Given the description of an element on the screen output the (x, y) to click on. 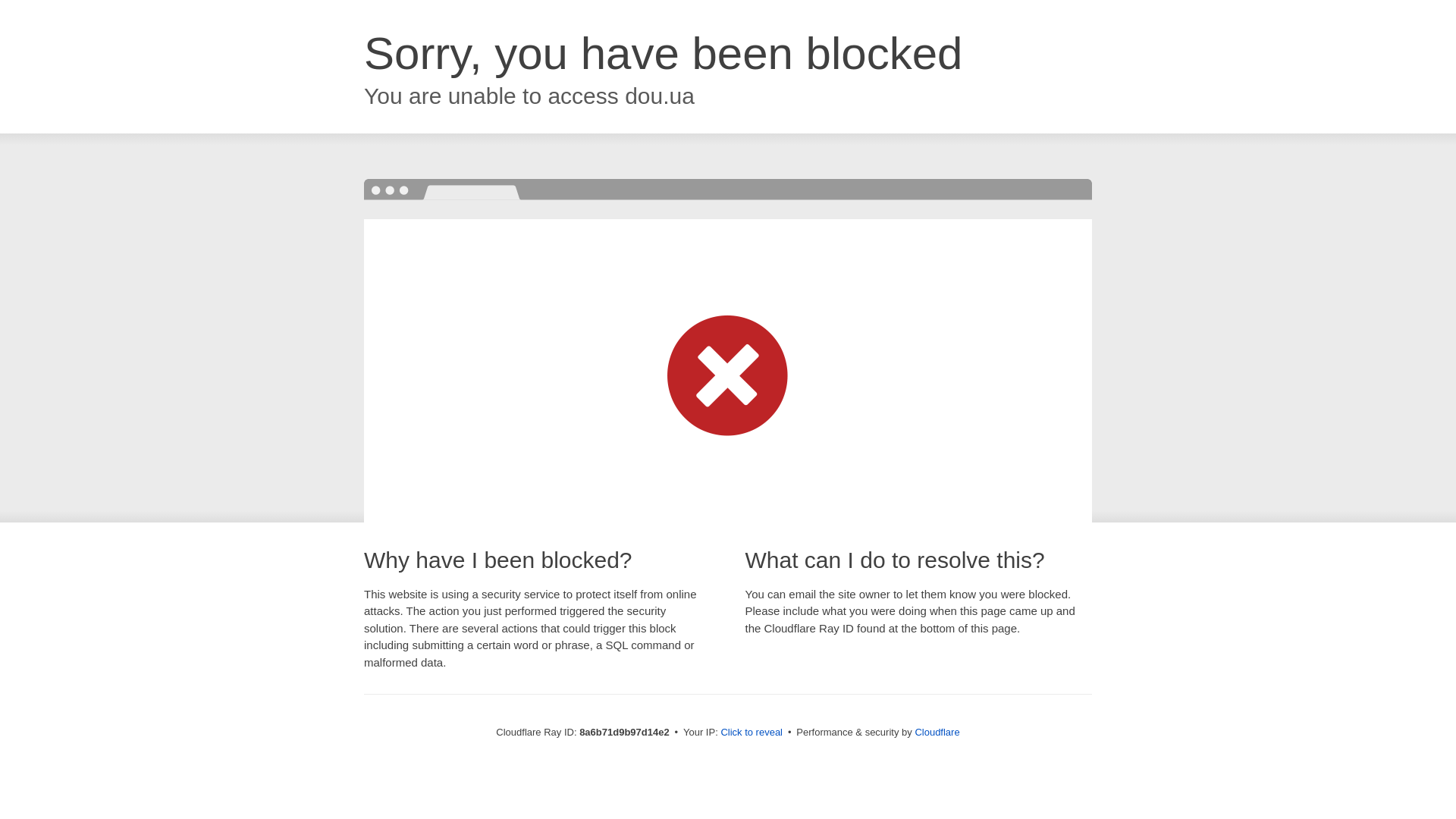
Cloudflare (936, 731)
Click to reveal (751, 732)
